Given the description of an element on the screen output the (x, y) to click on. 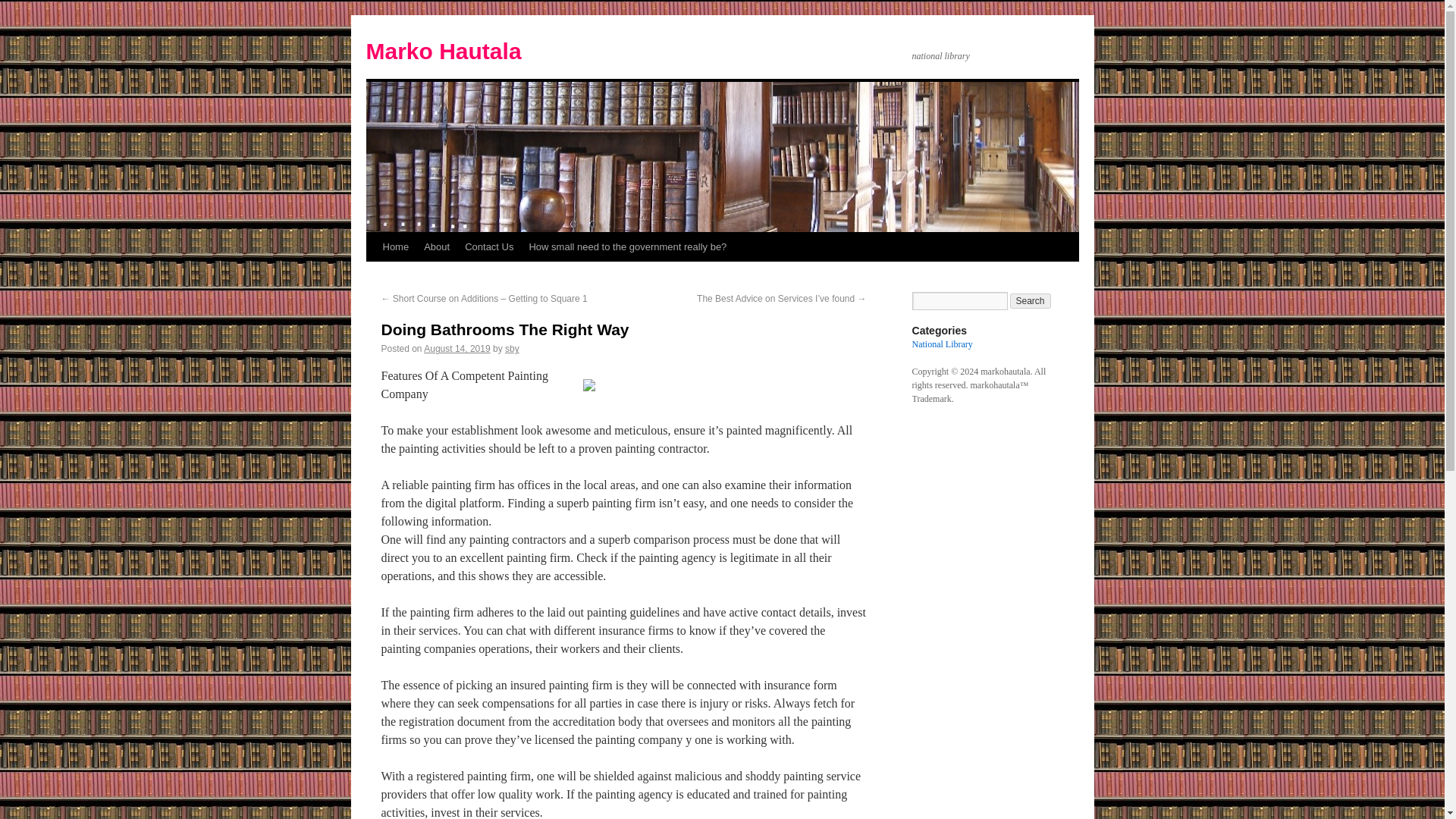
August 14, 2019 (456, 348)
7:55 am (456, 348)
sby (512, 348)
View all posts filed under National Library (941, 344)
National Library (941, 344)
Marko Hautala (443, 50)
Search (1030, 300)
Home (395, 246)
About (436, 246)
Search (1030, 300)
